Given the description of an element on the screen output the (x, y) to click on. 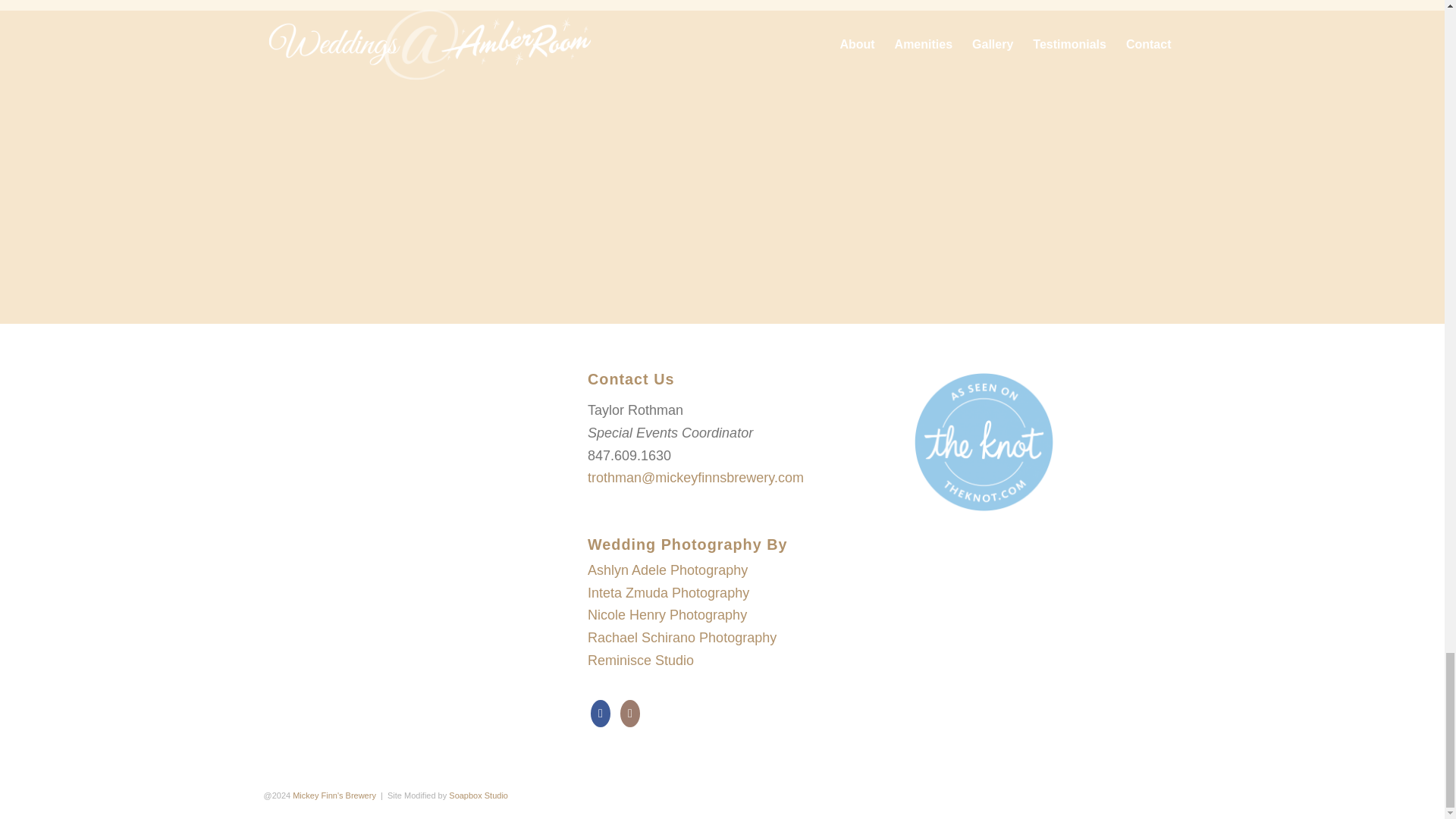
Reminisce Studio (641, 660)
Submit (722, 228)
Nicole Henry Photography (667, 614)
Ashlyn Adele Photography (668, 570)
Inteta Zmuda Photography (668, 592)
Rachael Schirano Photography (682, 637)
